Given the description of an element on the screen output the (x, y) to click on. 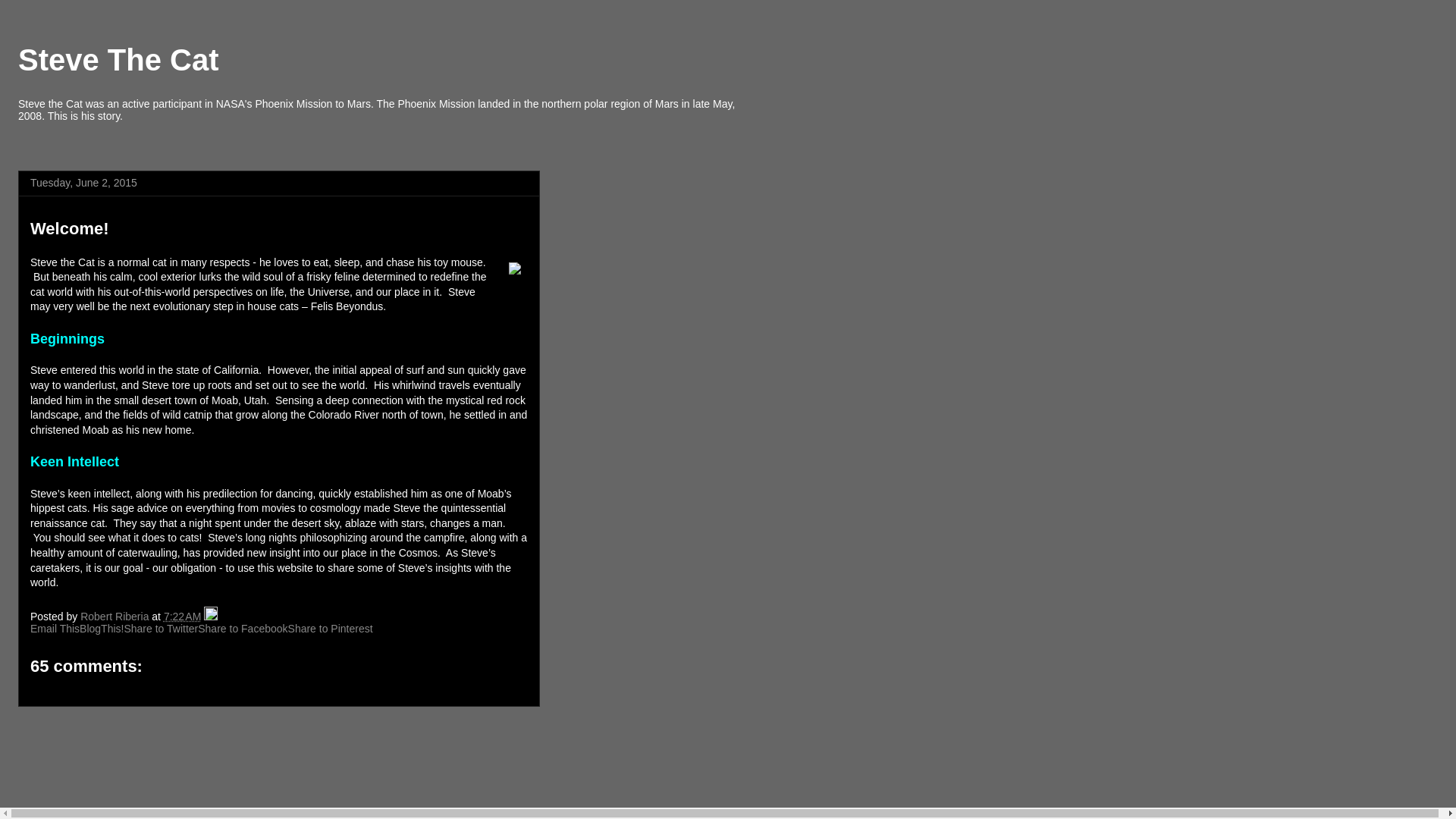
Share to Pinterest (330, 628)
BlogThis! (101, 628)
Robert Riberia (115, 616)
Share to Facebook (242, 628)
BlogThis! (101, 628)
Steve The Cat (118, 59)
author profile (115, 616)
Share to Facebook (242, 628)
Edit Post (209, 616)
permanent link (181, 616)
Email This (55, 628)
Share to Pinterest (330, 628)
Share to Twitter (160, 628)
Email This (55, 628)
